Given the description of an element on the screen output the (x, y) to click on. 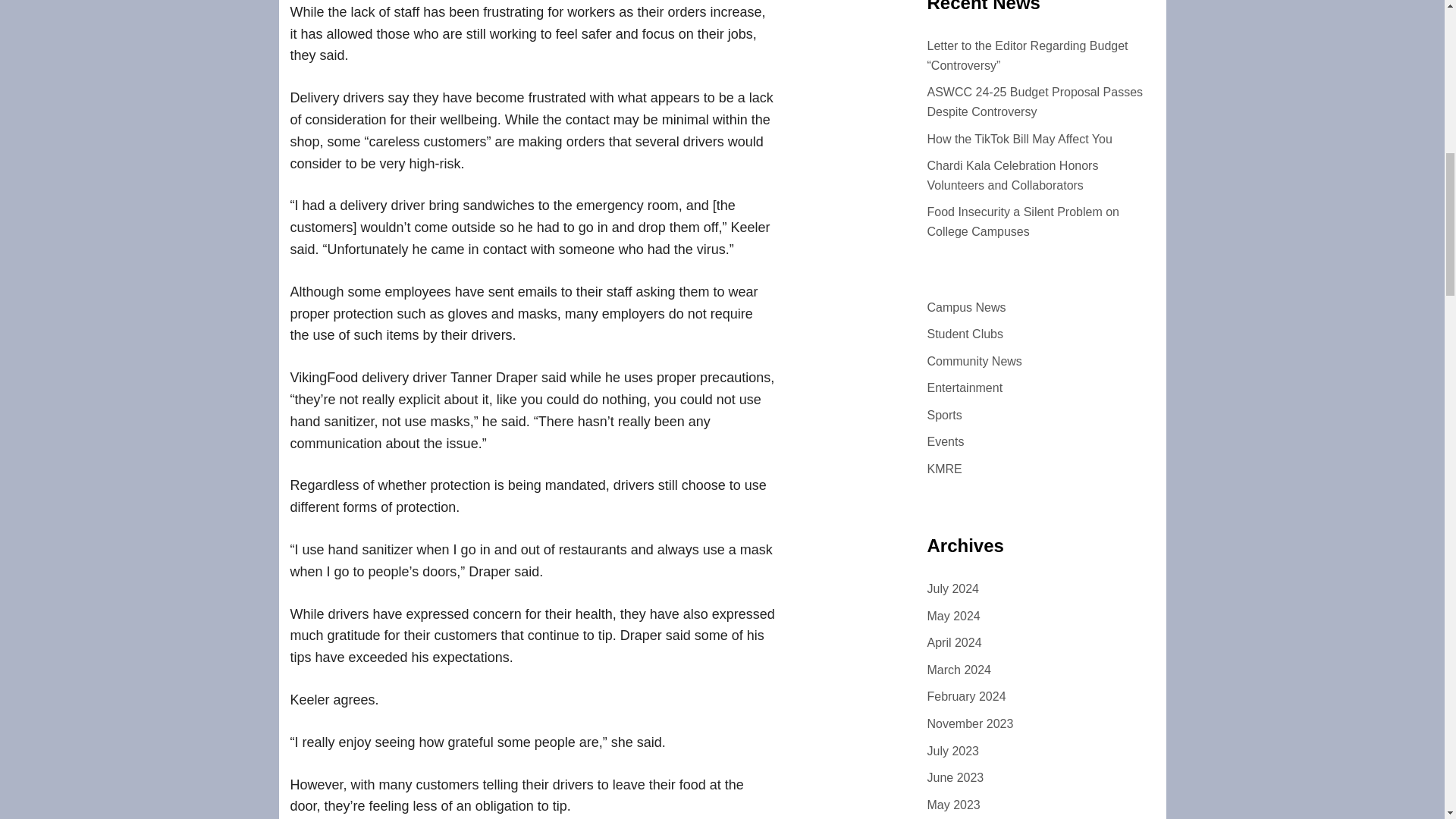
Entertainment (964, 387)
Student Clubs (964, 333)
ASWCC 24-25 Budget Proposal Passes Despite Controversy (1034, 101)
Campus News (966, 307)
How the TikTok Bill May Affect You (1019, 138)
Food Insecurity a Silent Problem on College Campuses (1022, 221)
Sports (943, 414)
Chardi Kala Celebration Honors Volunteers and Collaborators (1011, 174)
Community News (974, 360)
